Given the description of an element on the screen output the (x, y) to click on. 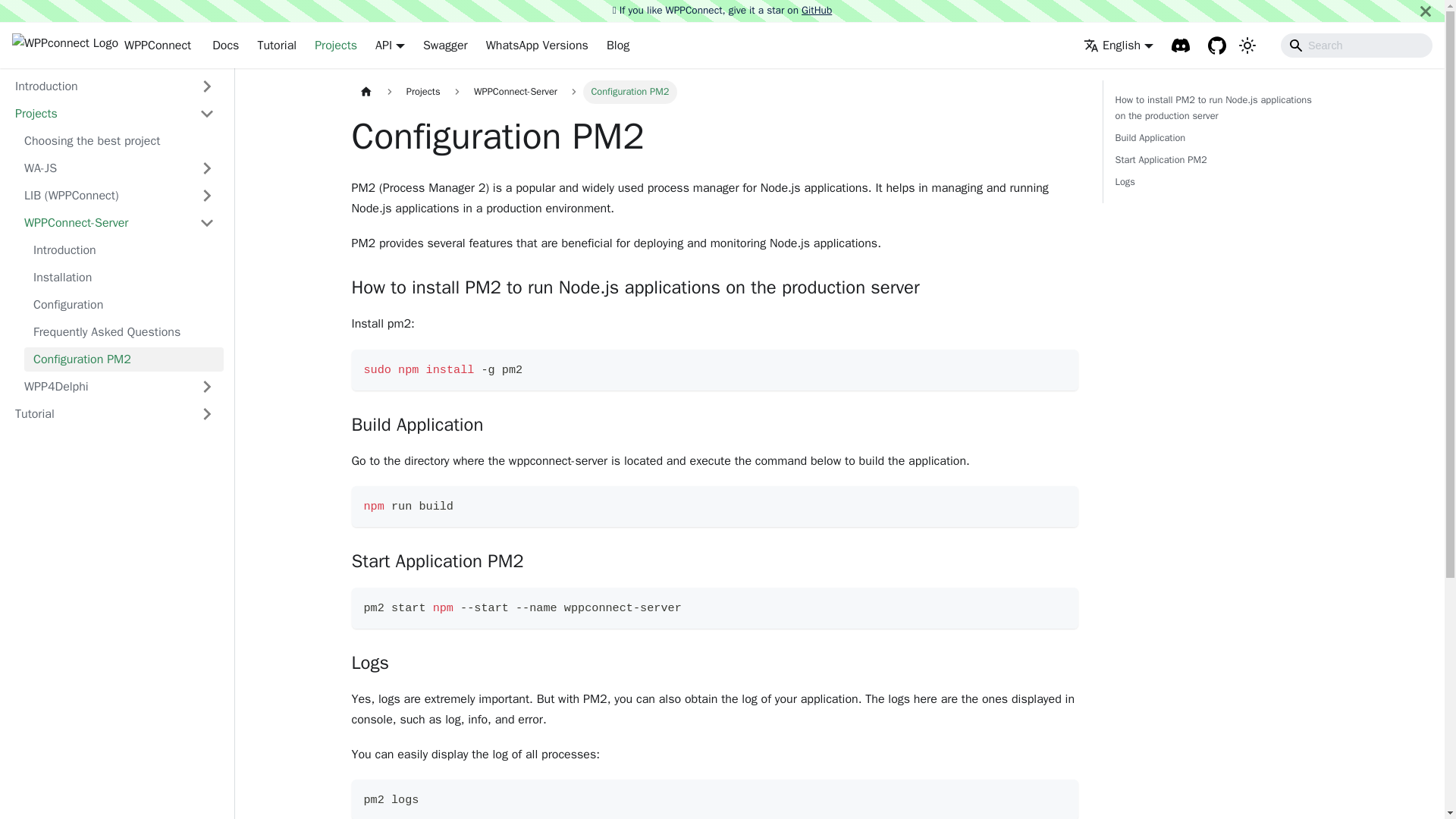
Introduction (124, 250)
Configuration (124, 304)
GitHub (816, 10)
Swagger (445, 45)
Blog (617, 45)
pm2 start npm --start --name wppconnect-server (715, 608)
npm run build (715, 506)
GitHub repository (1216, 45)
Tutorial (276, 45)
sudo npm install -g pm2 (715, 369)
Projects (335, 45)
WhatsApp Versions (536, 45)
API (389, 45)
Frequently Asked Questions (124, 331)
